Given the description of an element on the screen output the (x, y) to click on. 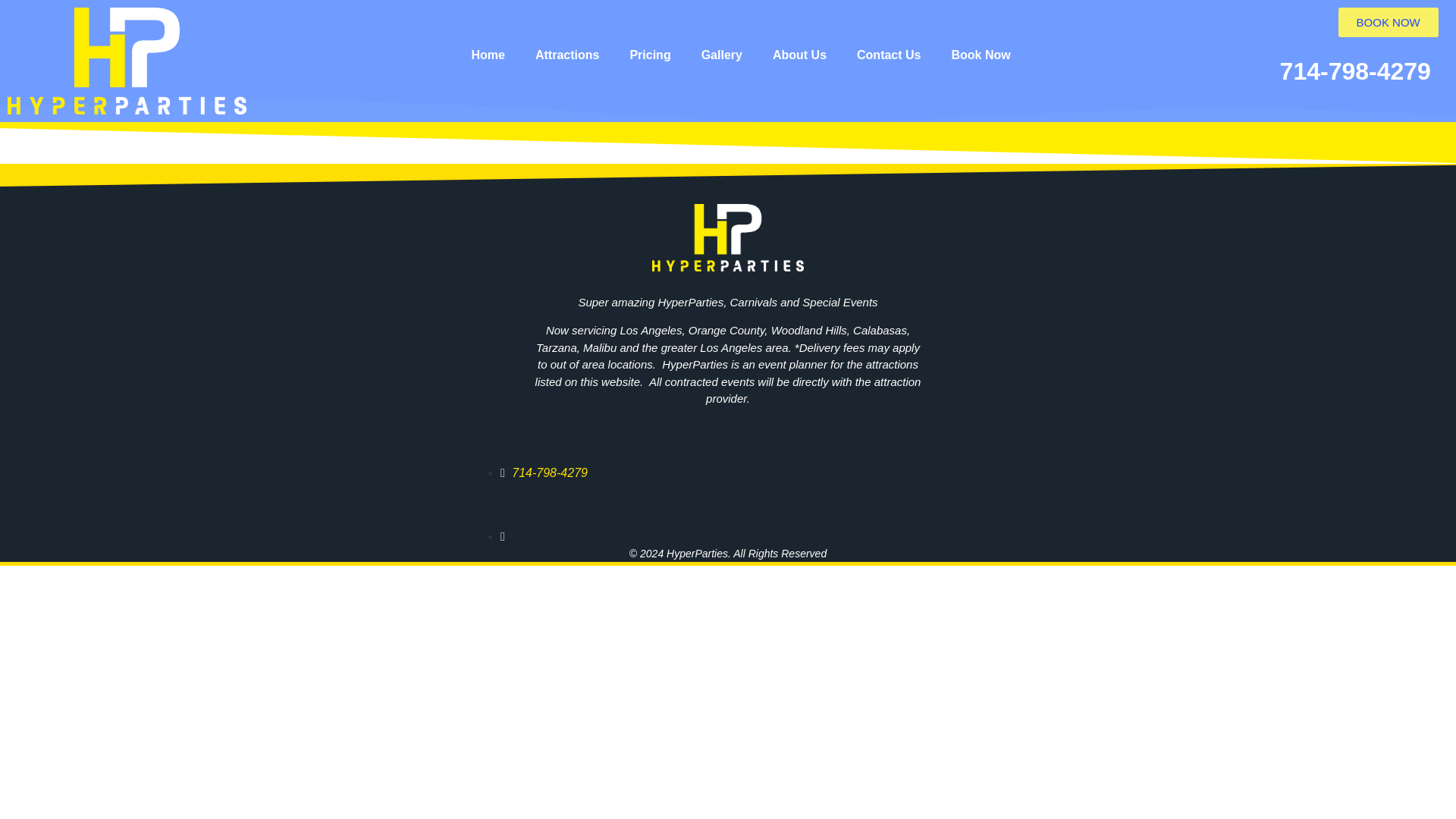
About Us (799, 54)
Contact Us (888, 54)
Home (488, 54)
Pricing (649, 54)
Book Now (980, 54)
Attractions (566, 54)
Gallery (721, 54)
